Given the description of an element on the screen output the (x, y) to click on. 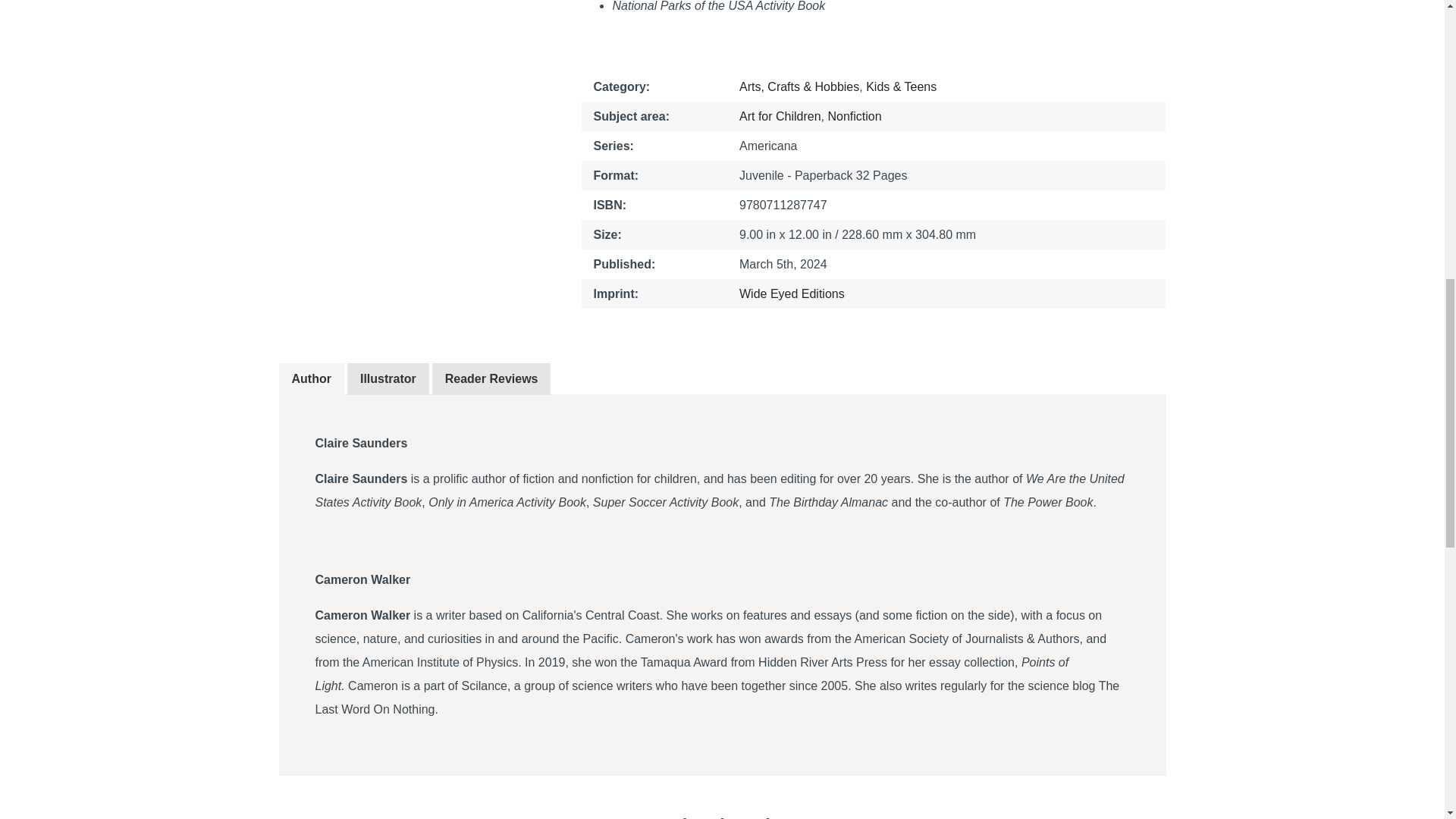
Illustrator (388, 378)
Reader Reviews (491, 378)
Author (780, 115)
